Given the description of an element on the screen output the (x, y) to click on. 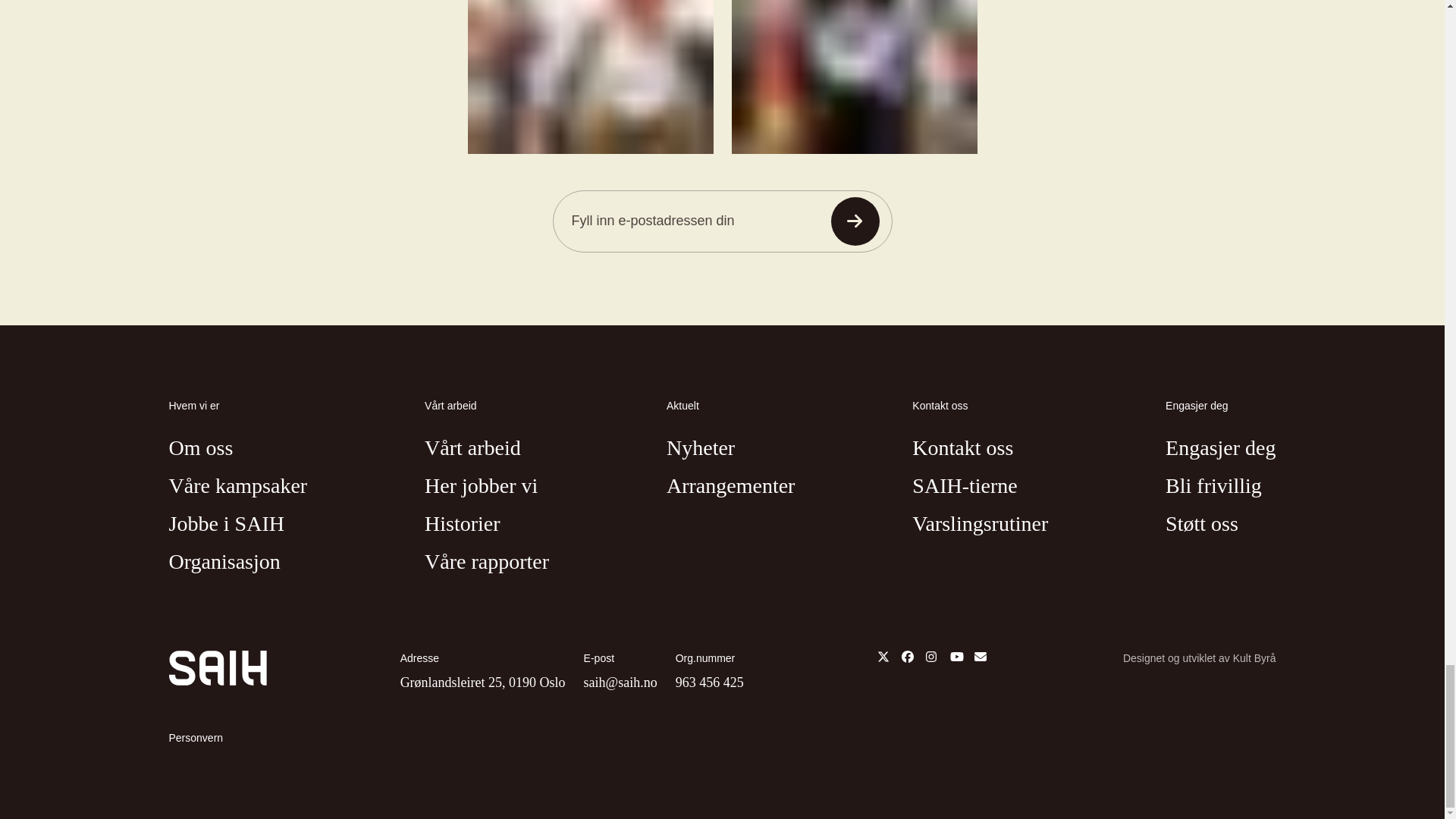
Nyheter (700, 448)
Send inn (855, 221)
Engasjer deg (1220, 448)
Historier (462, 524)
Jobbe i SAIH (225, 524)
SAIH-tierne (964, 486)
Organisasjon (223, 561)
Bli frivillig (1214, 486)
Personvern (195, 738)
Arrangementer (730, 486)
Varslingsrutiner (980, 524)
Her jobber vi (481, 486)
Kontakt oss (962, 448)
Om oss (200, 448)
